Given the description of an element on the screen output the (x, y) to click on. 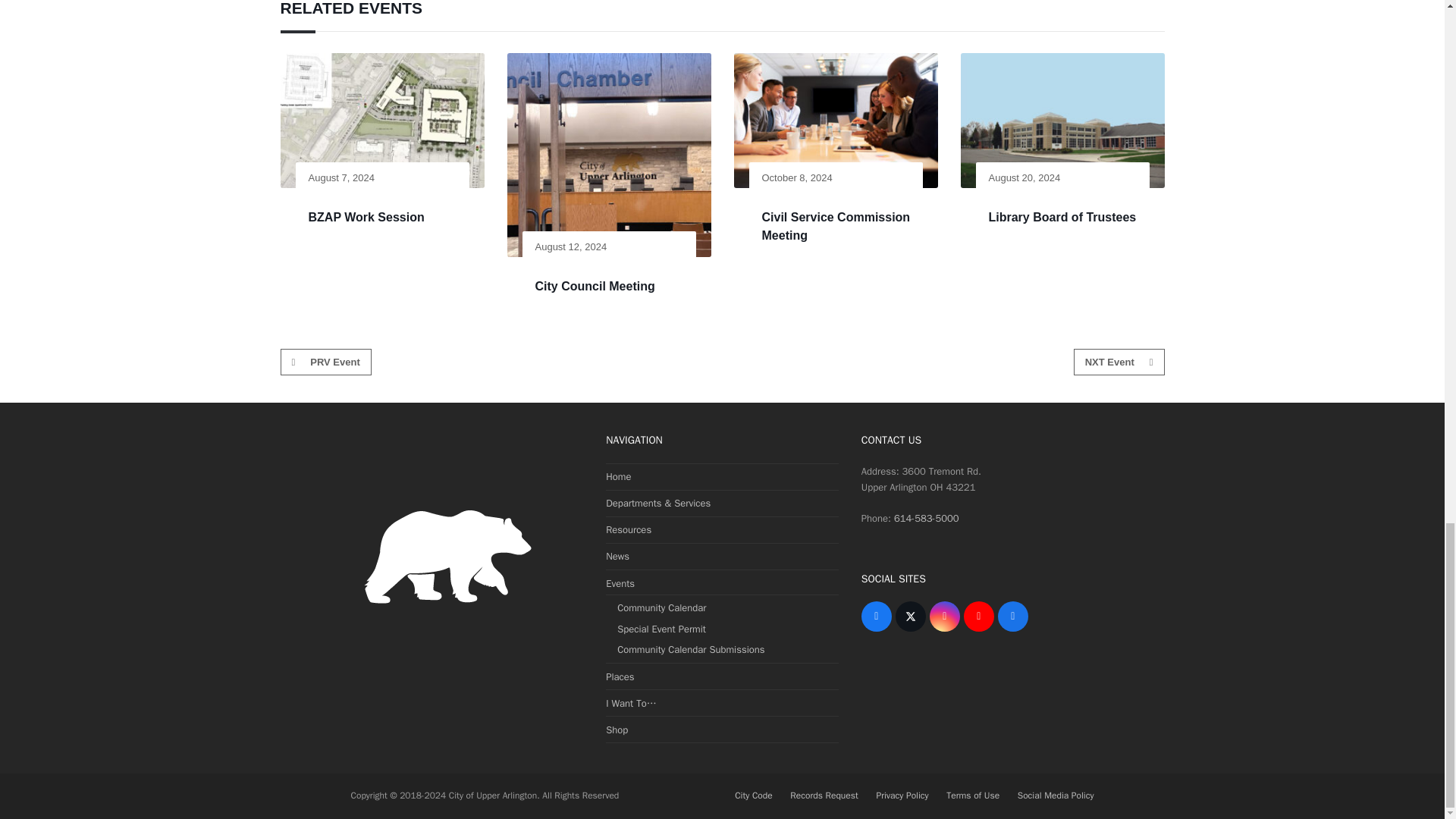
Library Board of Trustees (1062, 216)
Nextdoor (1012, 616)
BZAP Work Session (365, 216)
Facebook (876, 616)
Instagram (944, 616)
City Council Meeting (595, 286)
Civil Service Commission Meeting (835, 225)
X Twitter (910, 616)
Records Request (824, 795)
YouTube (978, 616)
